Given the description of an element on the screen output the (x, y) to click on. 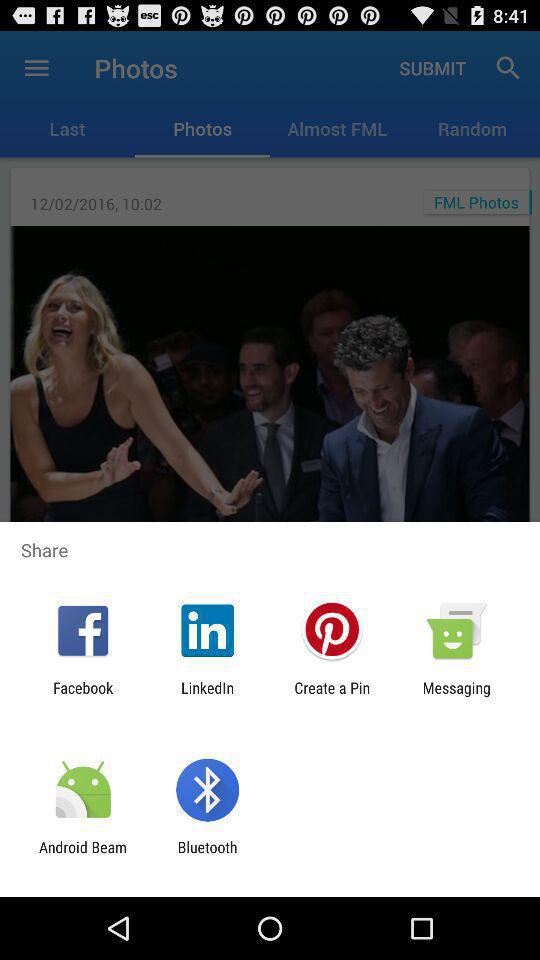
click the app next to facebook (207, 696)
